Given the description of an element on the screen output the (x, y) to click on. 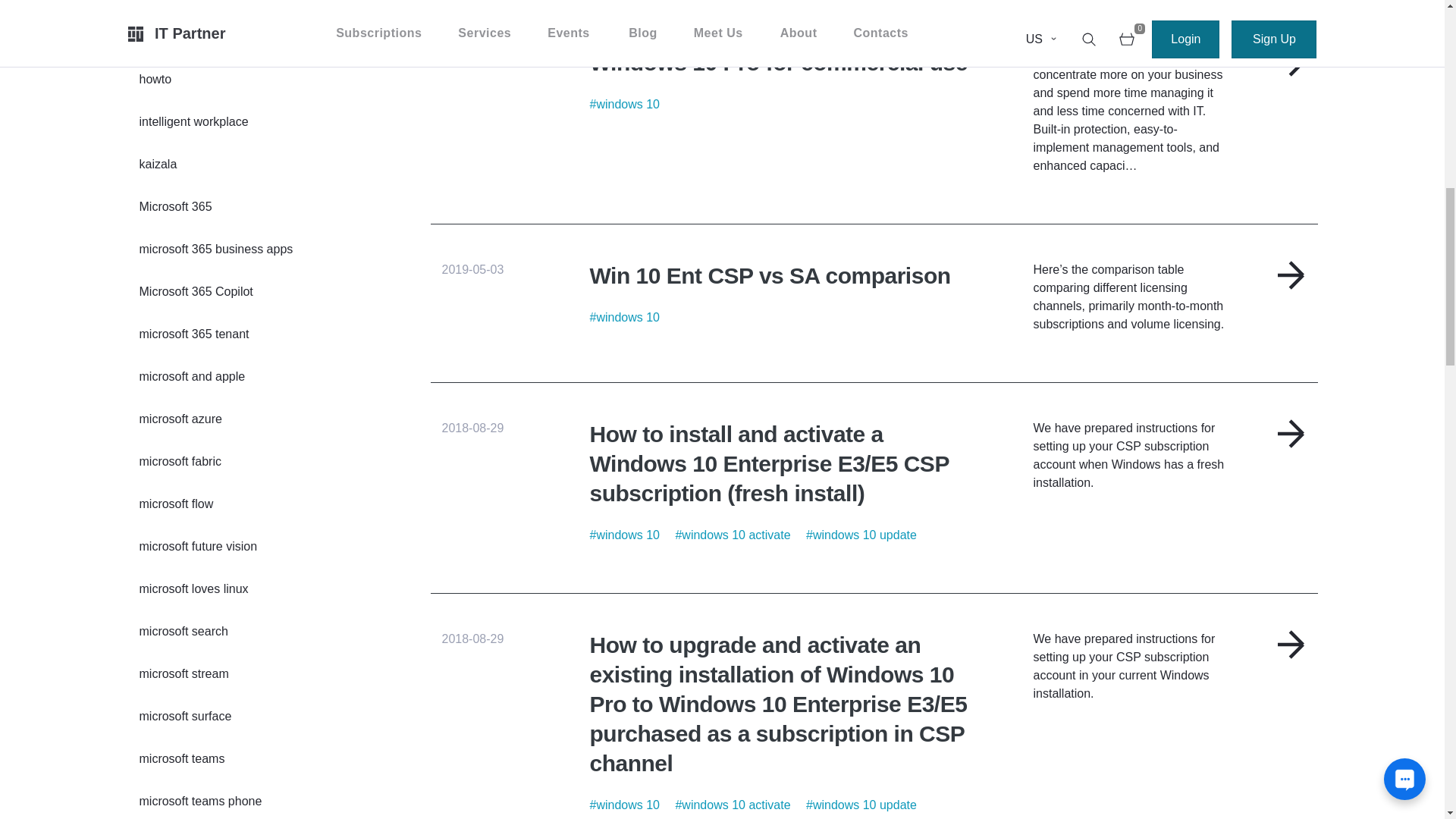
intelligent workplace (194, 122)
fasttrack (162, 4)
kaizala (158, 164)
Microsoft 365 (176, 206)
gdpr (152, 37)
howto (156, 79)
